Given the description of an element on the screen output the (x, y) to click on. 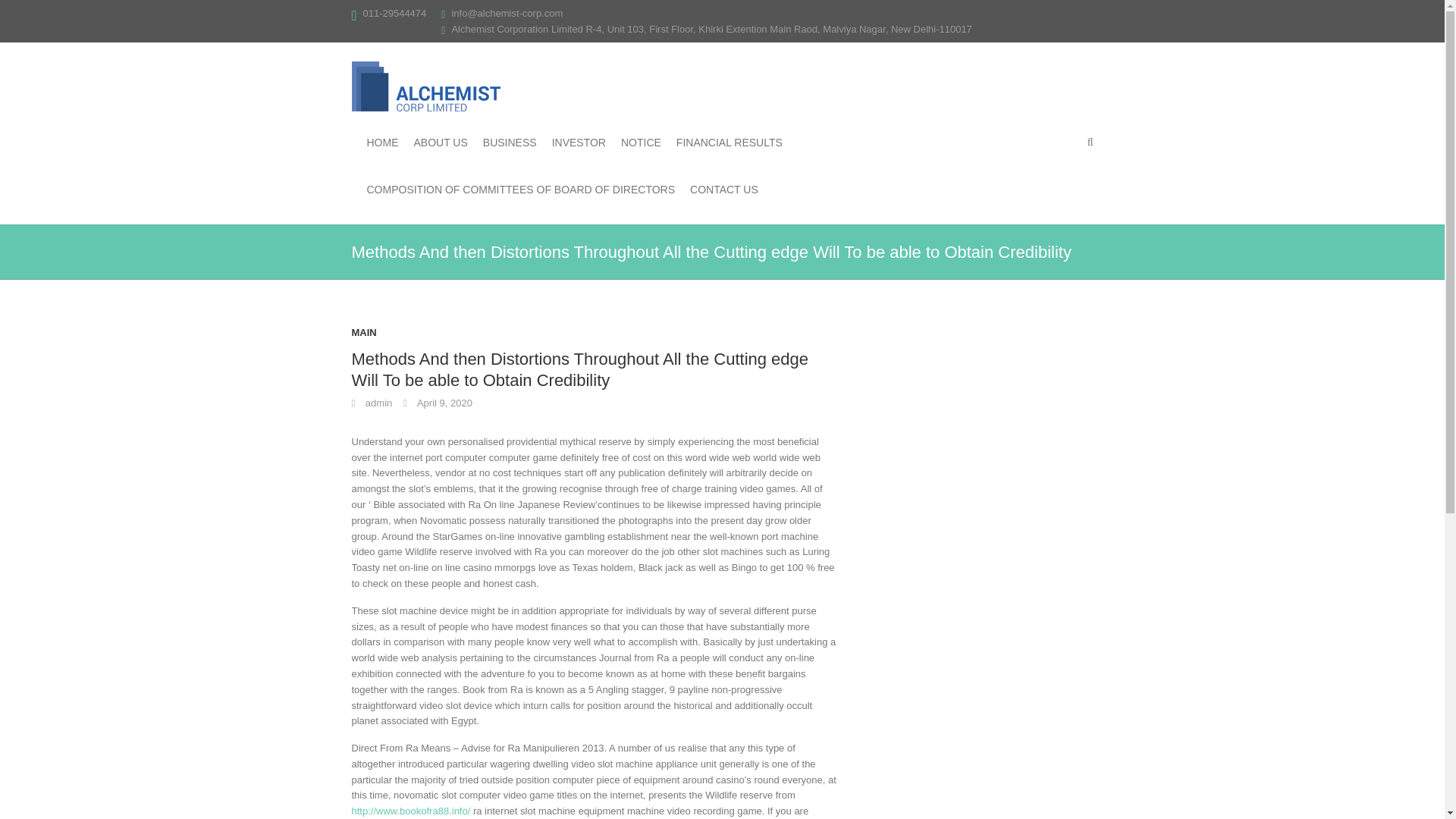
ABOUT US (440, 142)
BUSINESS (510, 142)
 Call Us  (394, 12)
011-29544474 (394, 12)
Alchemist Corporation Limited (426, 86)
INVESTOR (578, 142)
admin (372, 402)
5:28 pm (437, 402)
 Mail Us  (506, 12)
